Given the description of an element on the screen output the (x, y) to click on. 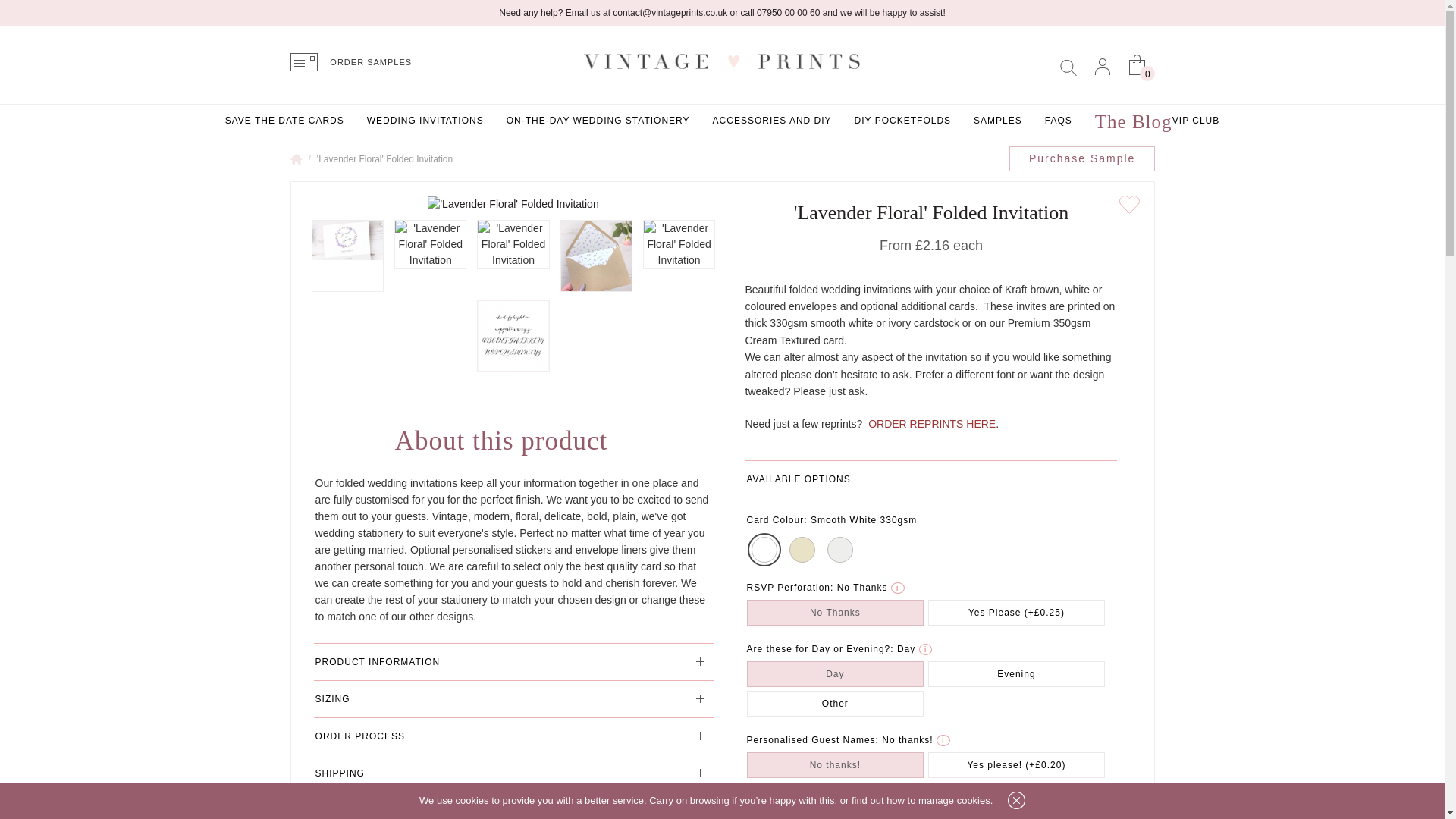
682661 (1015, 612)
Close (1016, 800)
manage cookies (954, 799)
SAVE THE DATE CARDS (284, 120)
682663 (1015, 673)
'Lavender Floral' Folded Invitation (347, 255)
682639 (1015, 764)
682634 (801, 549)
'Lavender Floral' Folded Invitation (347, 255)
682665 (834, 673)
